Given the description of an element on the screen output the (x, y) to click on. 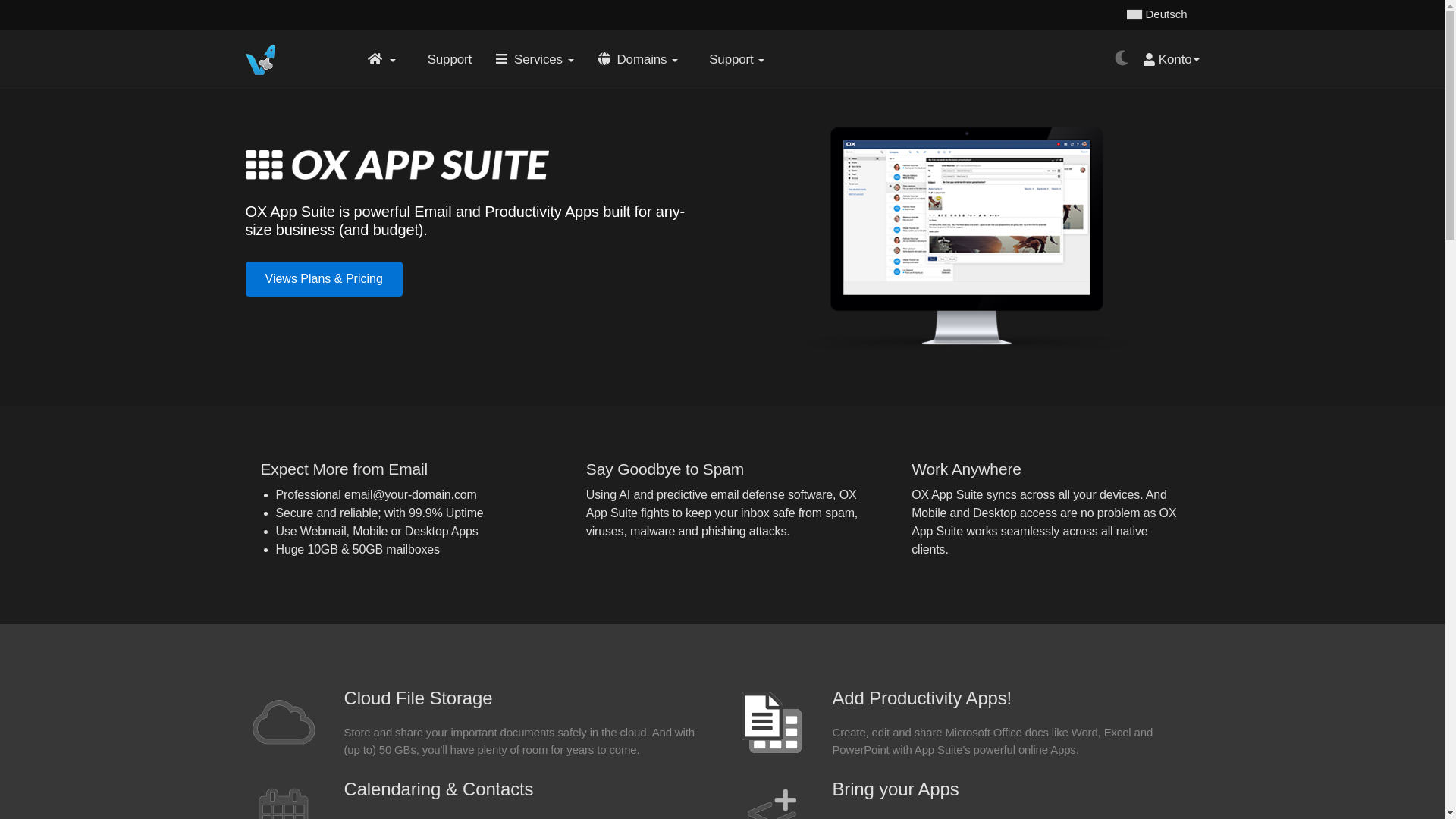
  Support Element type: text (445, 59)
  Services Element type: text (534, 59)
Views Plans & Pricing Element type: text (323, 278)
  Support Element type: text (733, 59)
Deutsch Element type: text (1156, 14)
  Domains Element type: text (638, 59)
  Element type: text (380, 59)
  Konto Element type: text (1170, 59)
